Given the description of an element on the screen output the (x, y) to click on. 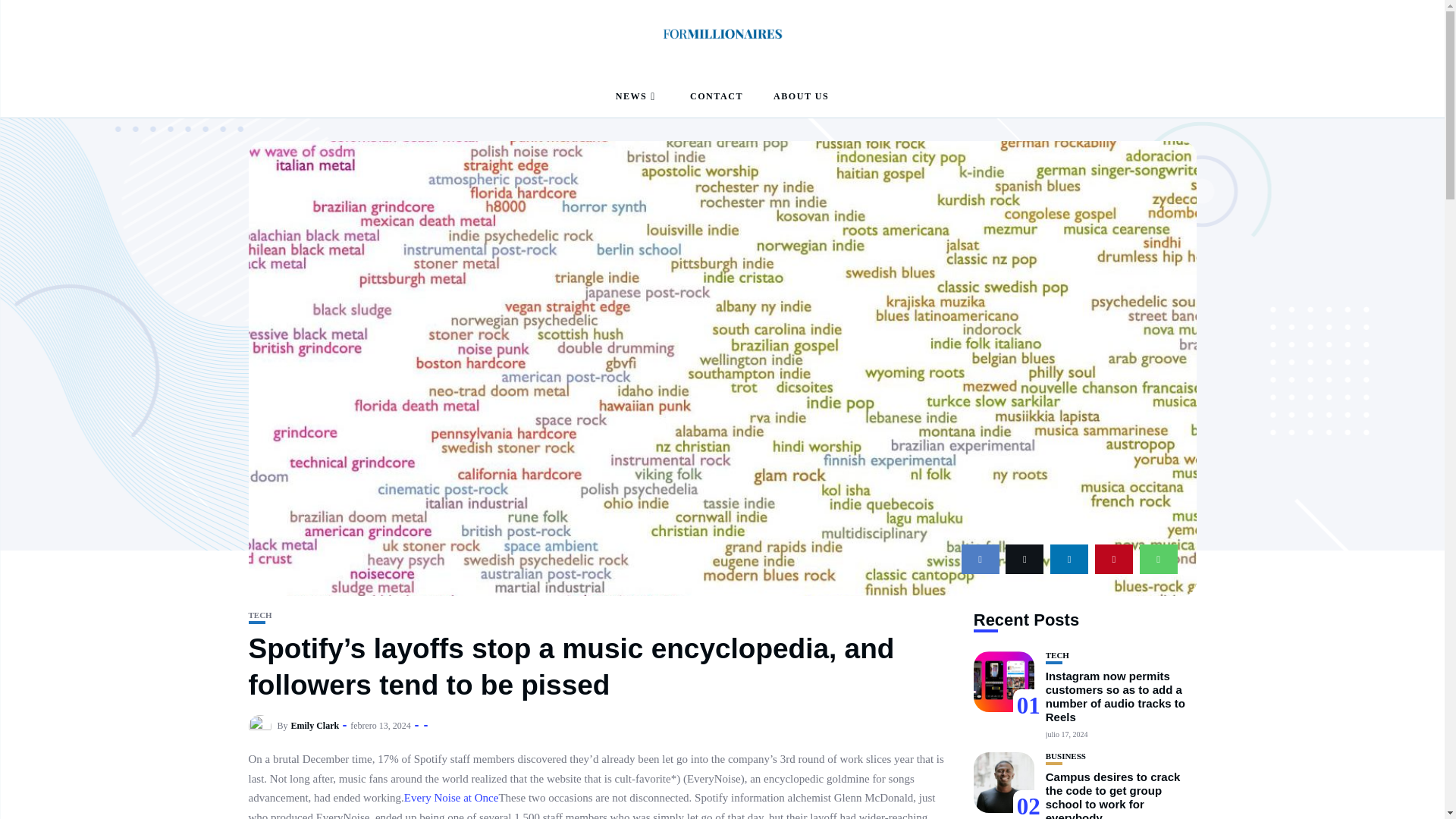
CONTACT (716, 96)
ABOUT US (800, 96)
TECH (260, 614)
facebook (979, 559)
NEWS (637, 96)
Every Noise at Once (451, 797)
Entradas de Emily Clark (315, 725)
Emily Clark (315, 725)
